Given the description of an element on the screen output the (x, y) to click on. 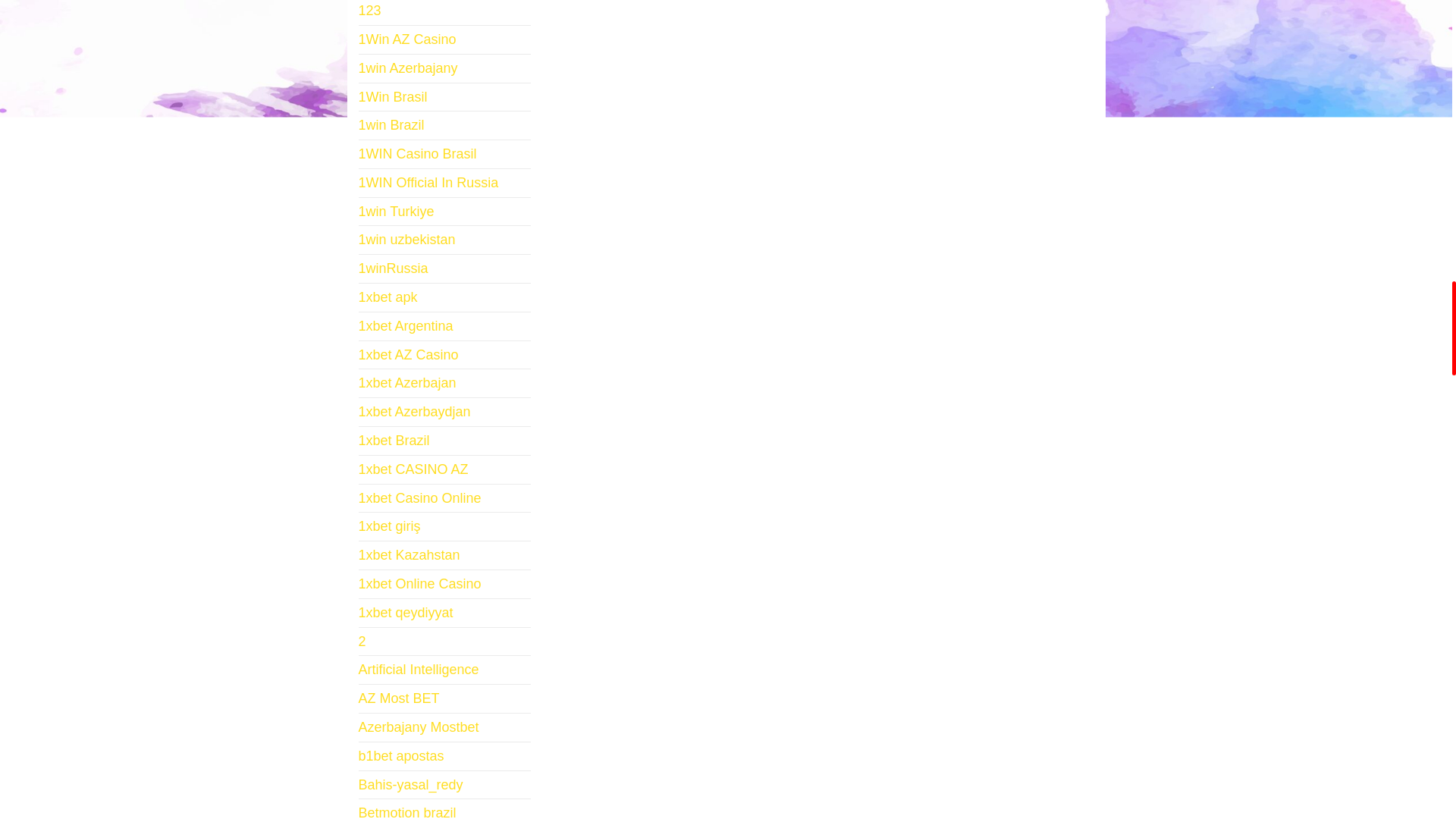
1win Azerbajany (407, 68)
123 (369, 10)
1Win AZ Casino (406, 38)
